Given the description of an element on the screen output the (x, y) to click on. 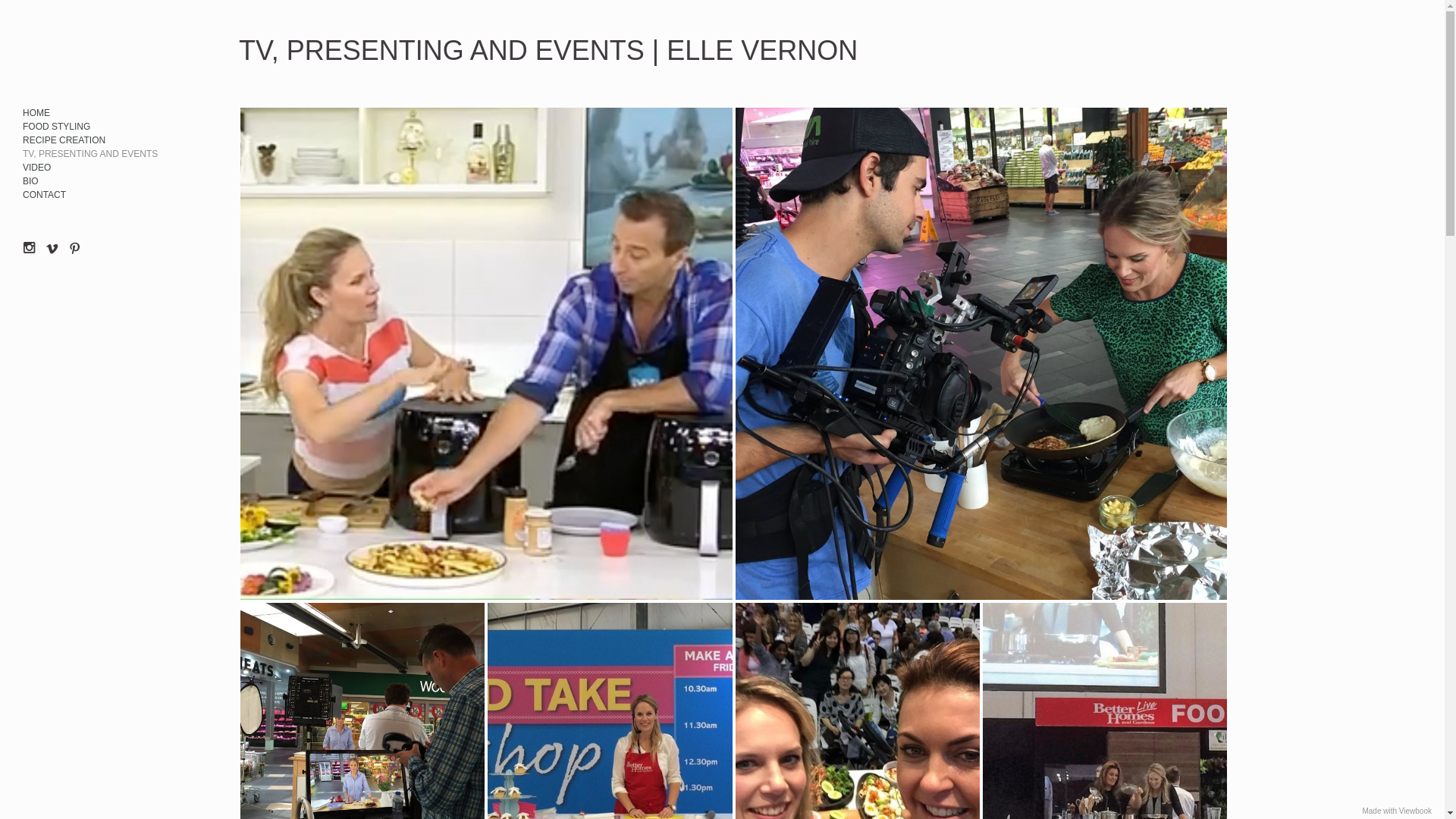
TV, PRESENTING AND EVENTS Element type: text (89, 153)
BIO Element type: text (30, 180)
RECIPE CREATION Element type: text (63, 139)
FOOD STYLING Element type: text (56, 126)
VIDEO Element type: text (36, 167)
CONTACT Element type: text (43, 194)
Made with Viewbook Element type: text (1396, 810)
HOME Element type: text (36, 112)
